Given the description of an element on the screen output the (x, y) to click on. 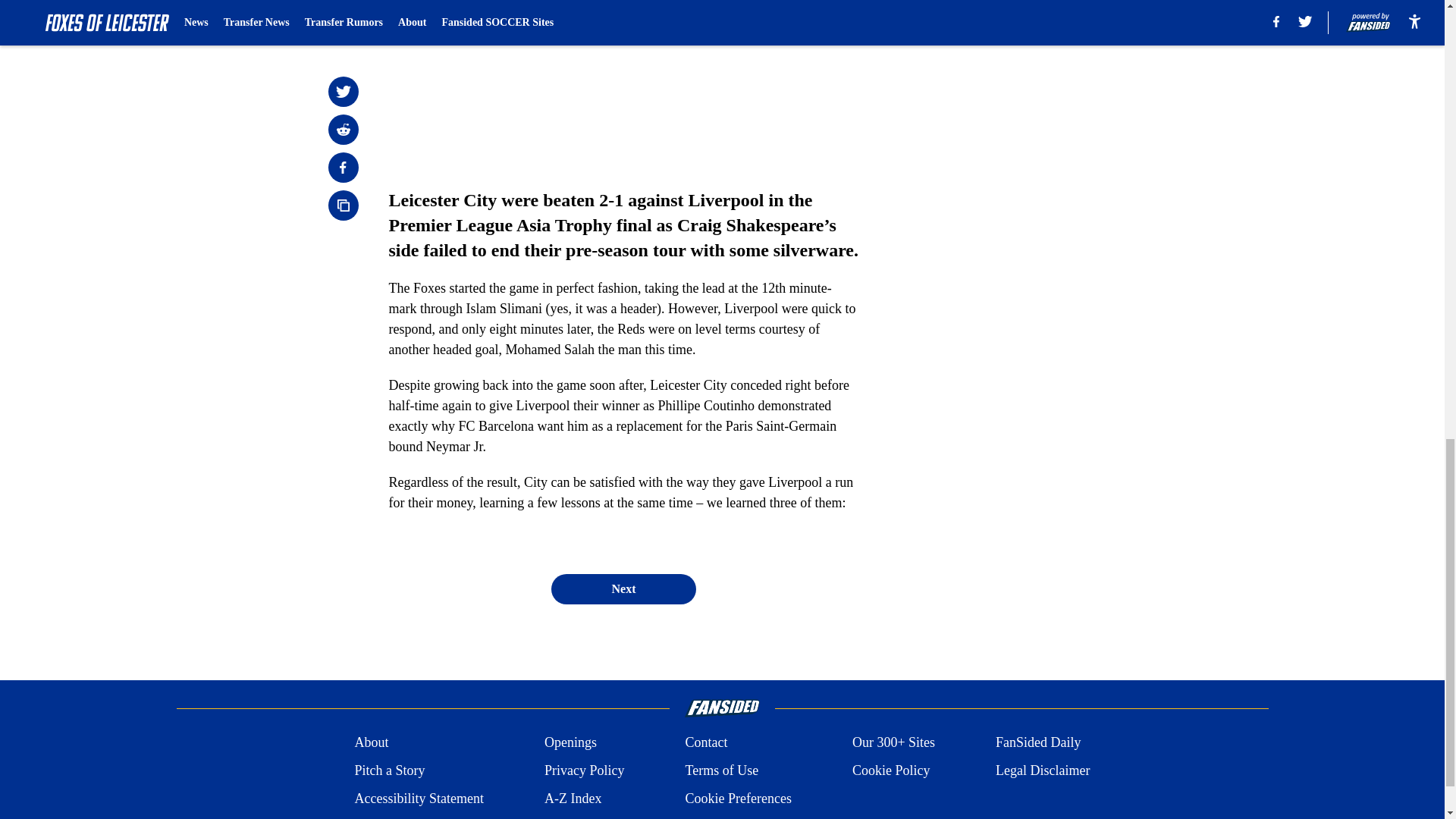
Privacy Policy (584, 770)
FanSided Daily (1038, 742)
Cookie Preferences (737, 798)
A-Z Index (572, 798)
Cookie Policy (890, 770)
Terms of Use (721, 770)
Pitch a Story (389, 770)
Openings (570, 742)
Accessibility Statement (418, 798)
Contact (705, 742)
